Given the description of an element on the screen output the (x, y) to click on. 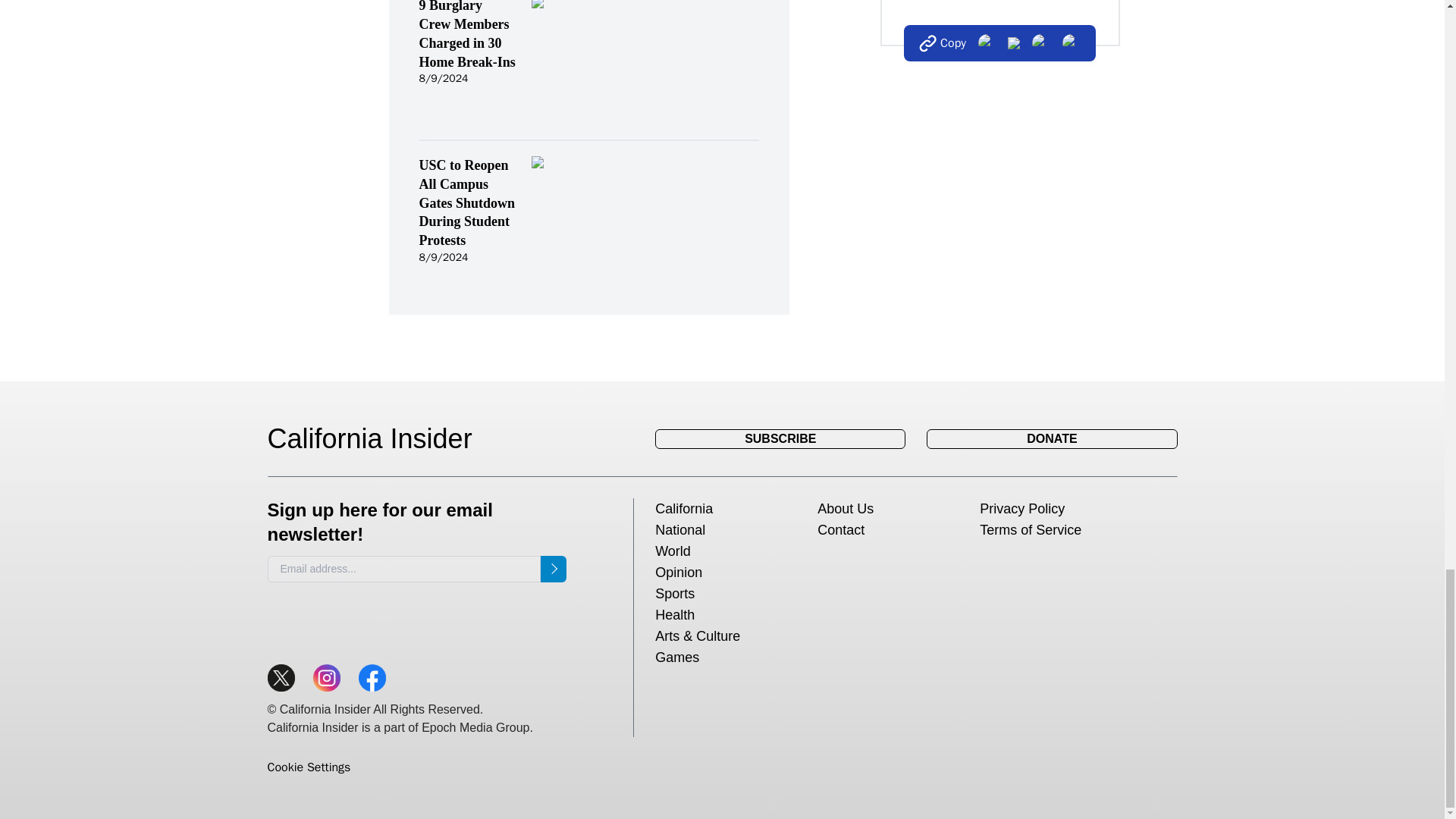
DONATE (1051, 438)
Opinion (678, 572)
SUBSCRIBE (780, 438)
California (684, 508)
World (672, 550)
Games (676, 657)
Health (674, 614)
9 Burglary Crew Members Charged in 30 Home Break-Ins (467, 35)
National (679, 529)
